Given the description of an element on the screen output the (x, y) to click on. 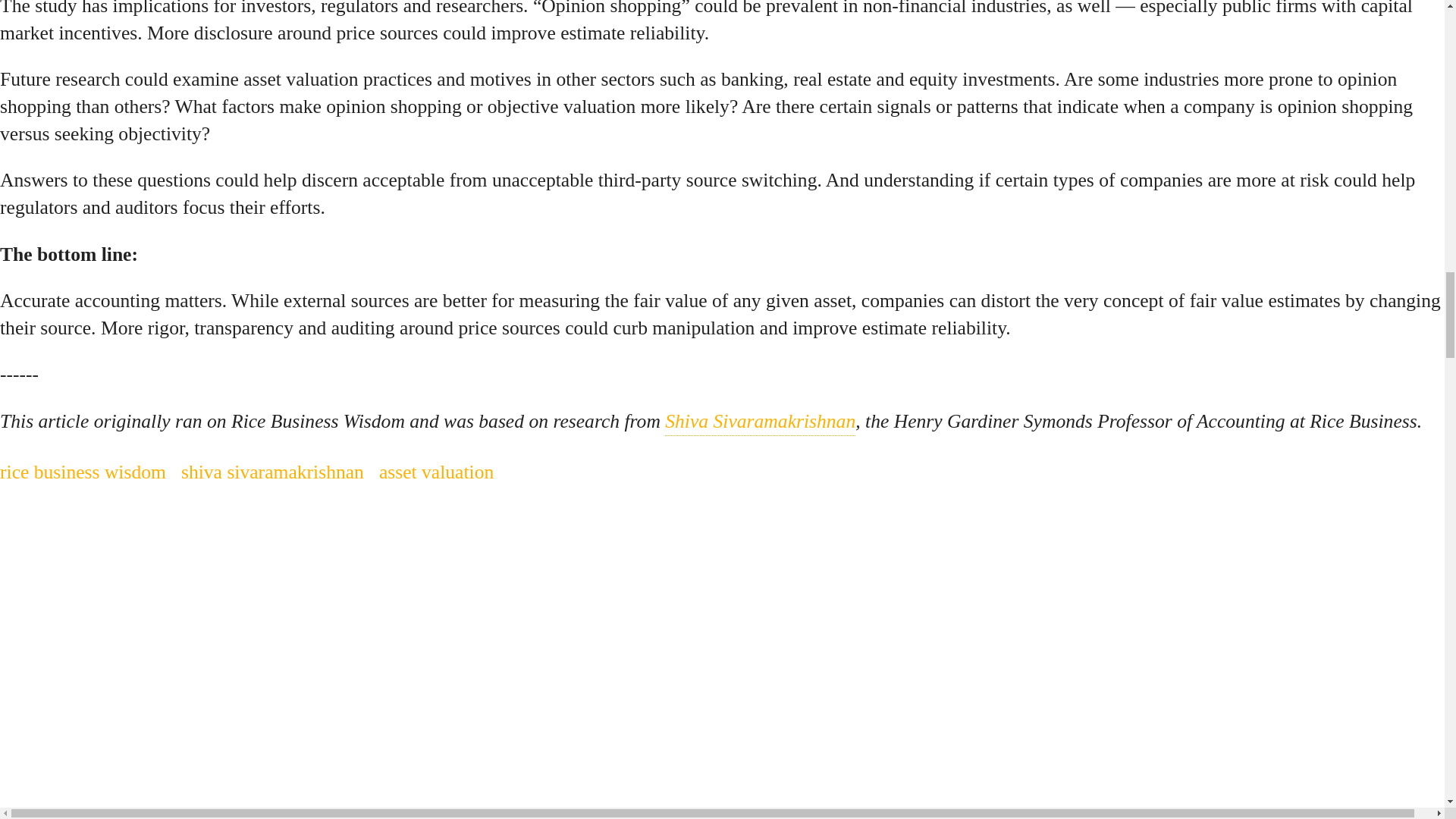
asset valuation (435, 472)
shiva sivaramakrishnan (272, 472)
Shiva Sivaramakrishnan (760, 421)
rice business wisdom (82, 472)
